Given the description of an element on the screen output the (x, y) to click on. 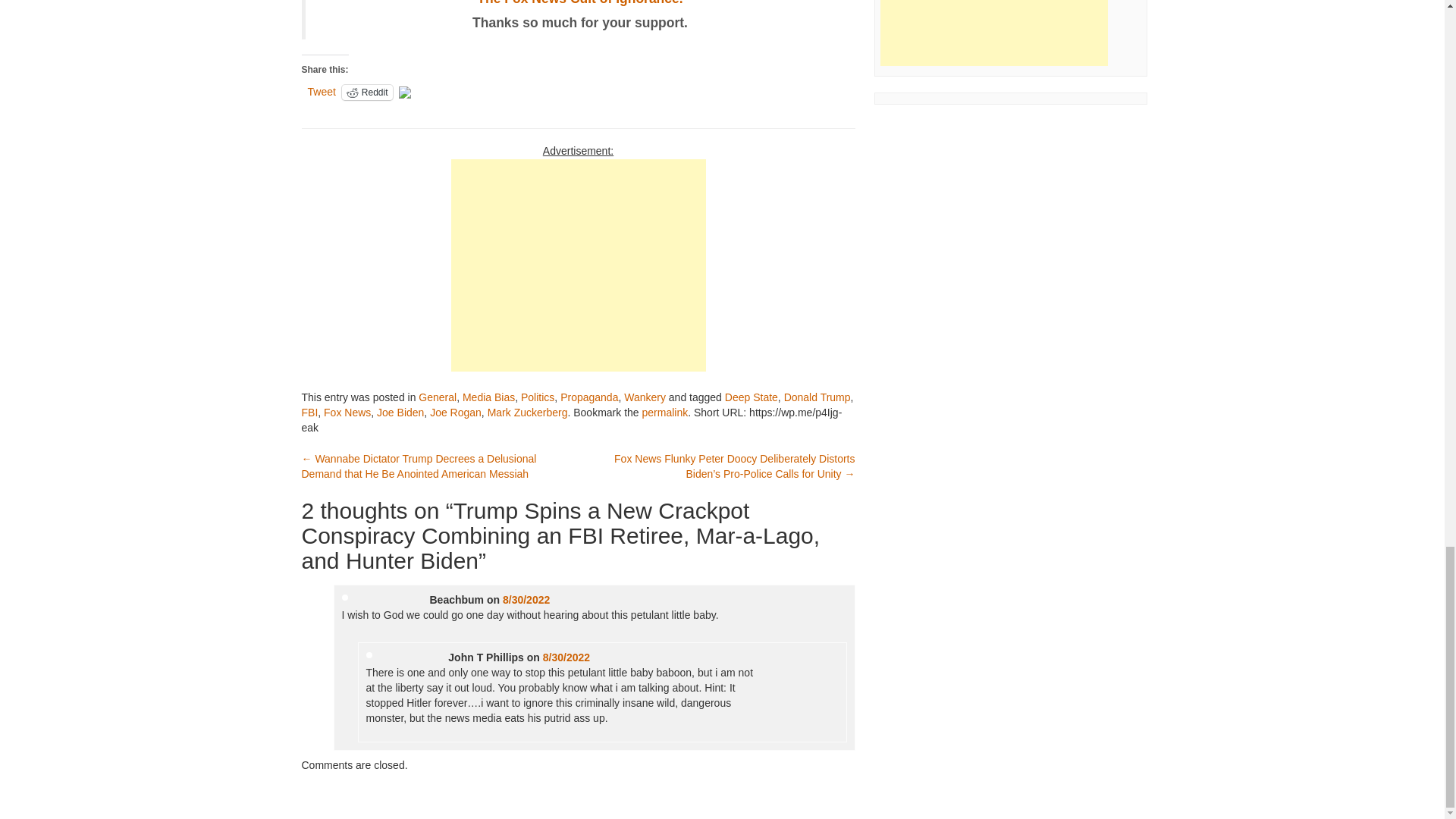
Click to share on Reddit (579, 3)
Tweet (367, 92)
